Given the description of an element on the screen output the (x, y) to click on. 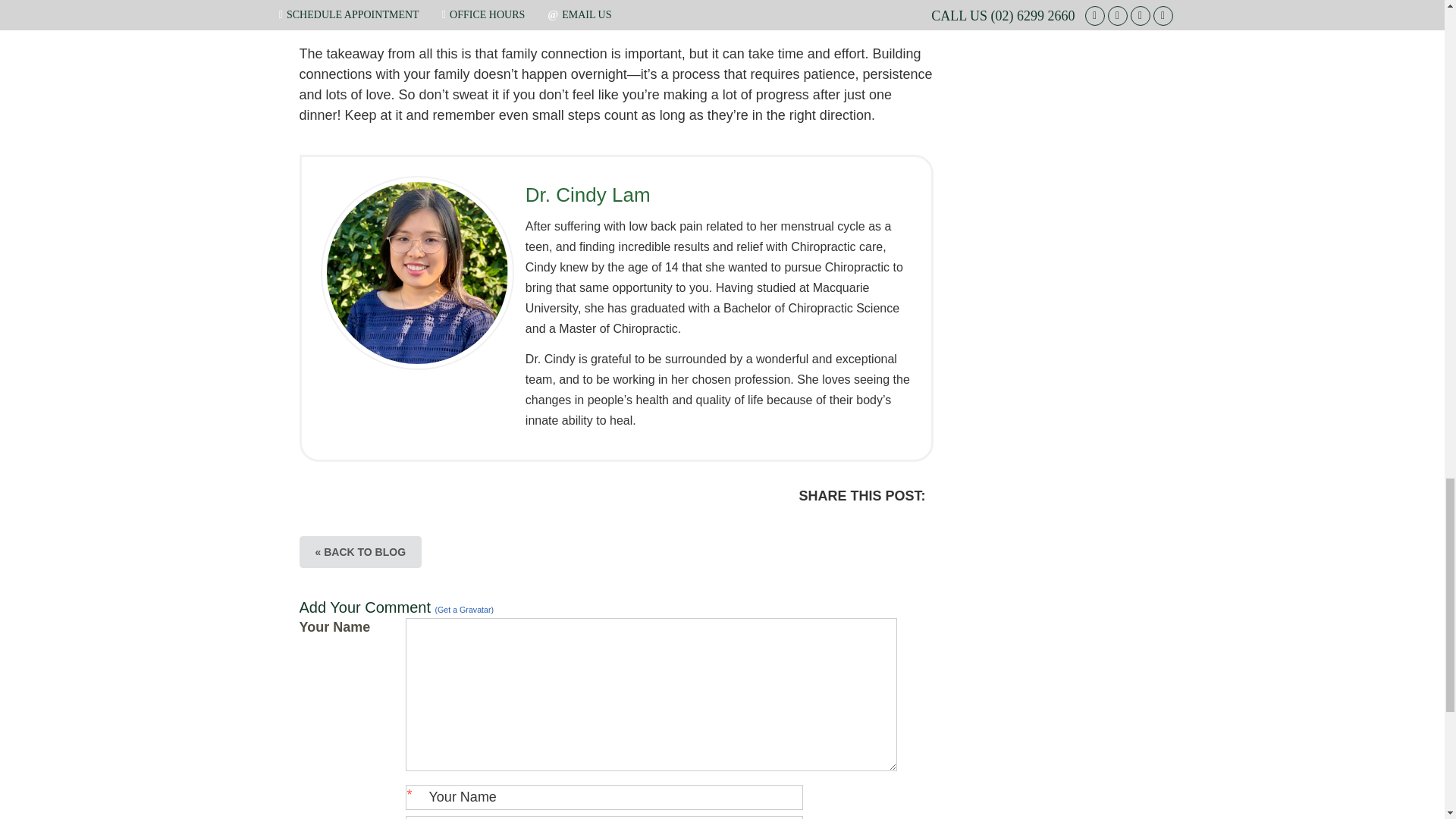
Your Name (603, 796)
Share on Facebook (843, 523)
Your Name (603, 796)
Share via Email (874, 523)
Share on Twitter (811, 523)
